Given the description of an element on the screen output the (x, y) to click on. 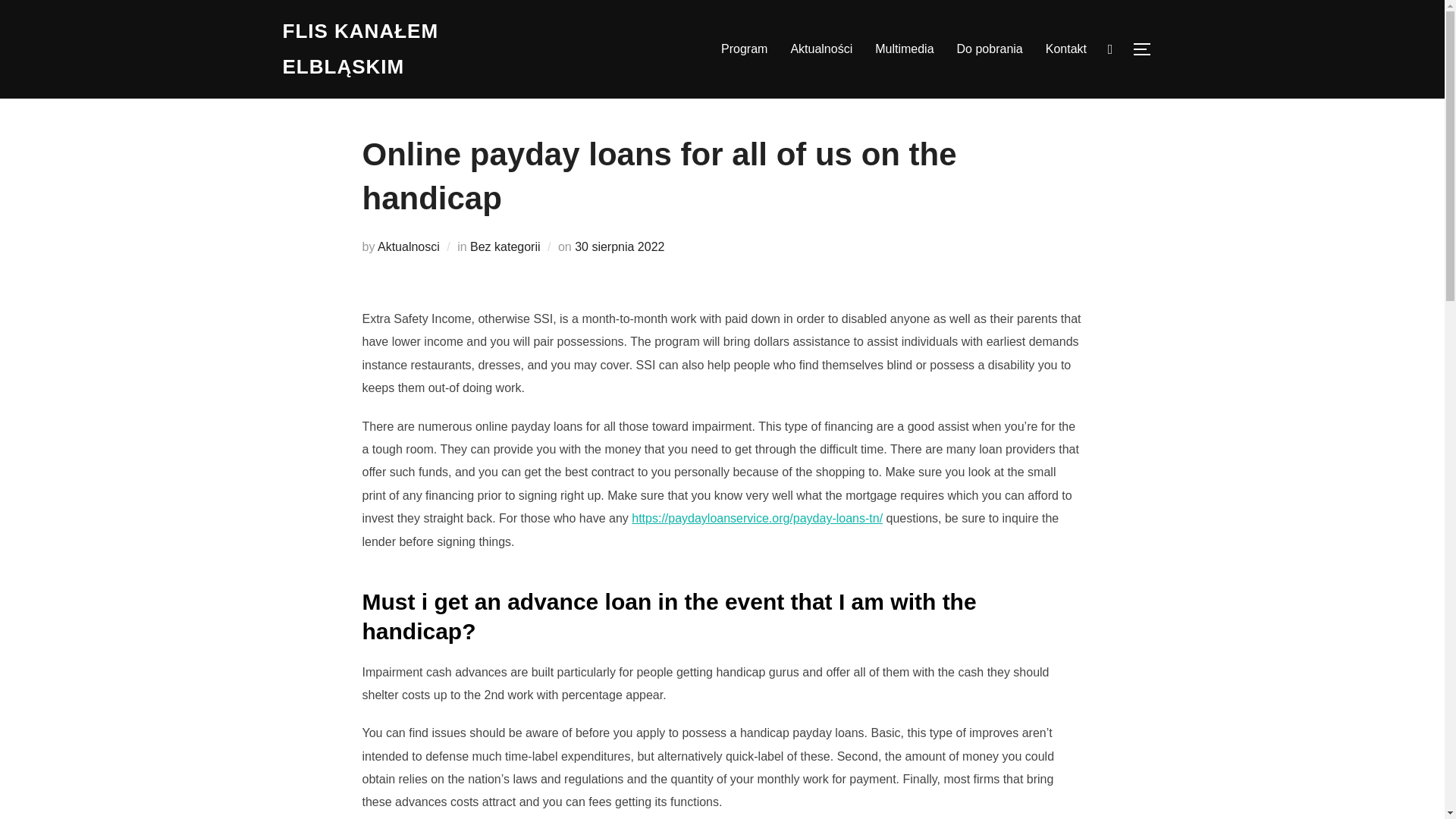
Facebook (1109, 47)
Kontakt (1065, 49)
Aktualnosci (408, 246)
Do pobrania (989, 49)
facebook (1109, 47)
Program (743, 49)
Multimedia (904, 49)
30 sierpnia 2022 (619, 246)
Bez kategorii (505, 246)
